Given the description of an element on the screen output the (x, y) to click on. 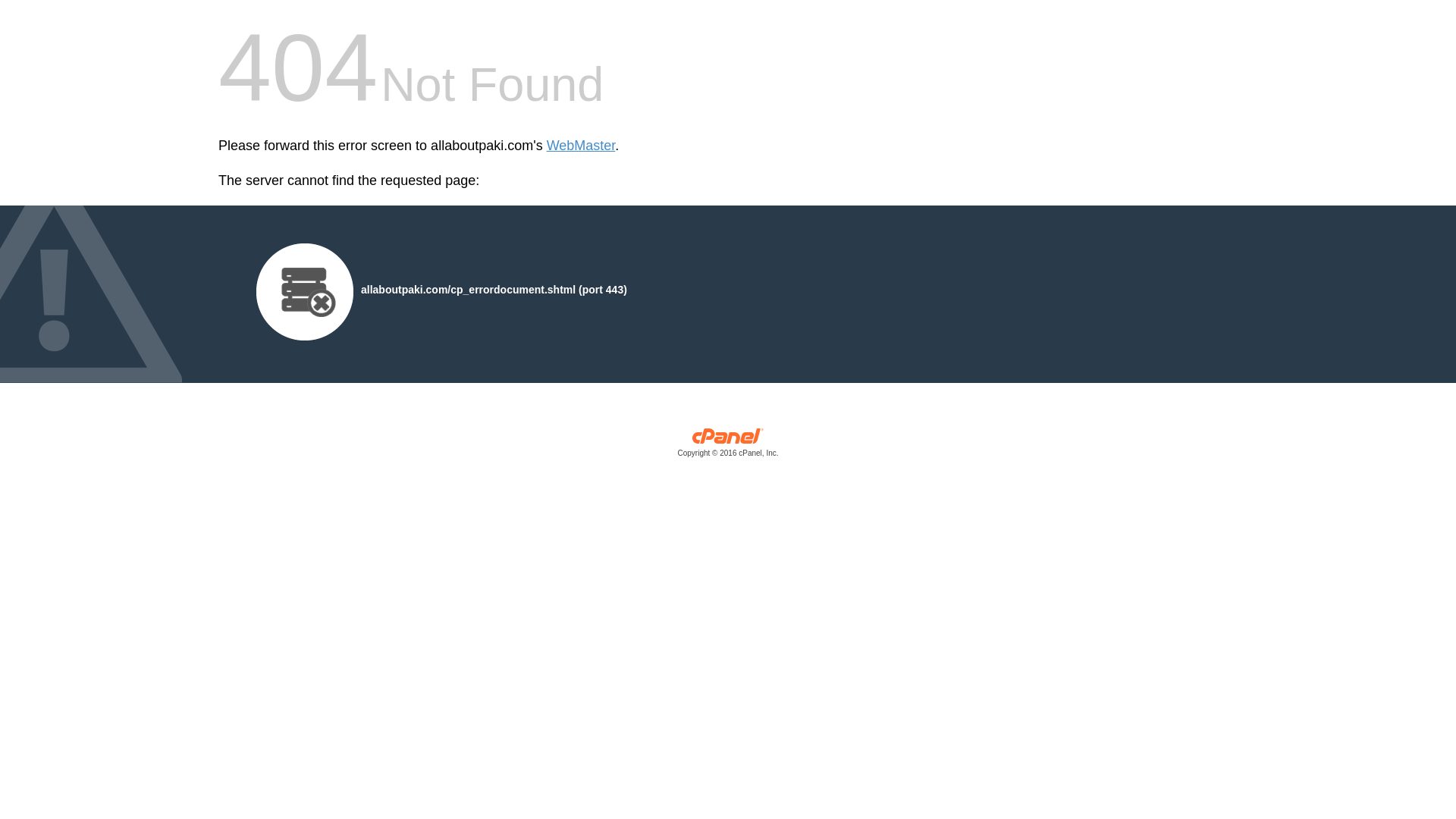
WebMaster (581, 145)
cPanel, Inc. (727, 446)
